Given the description of an element on the screen output the (x, y) to click on. 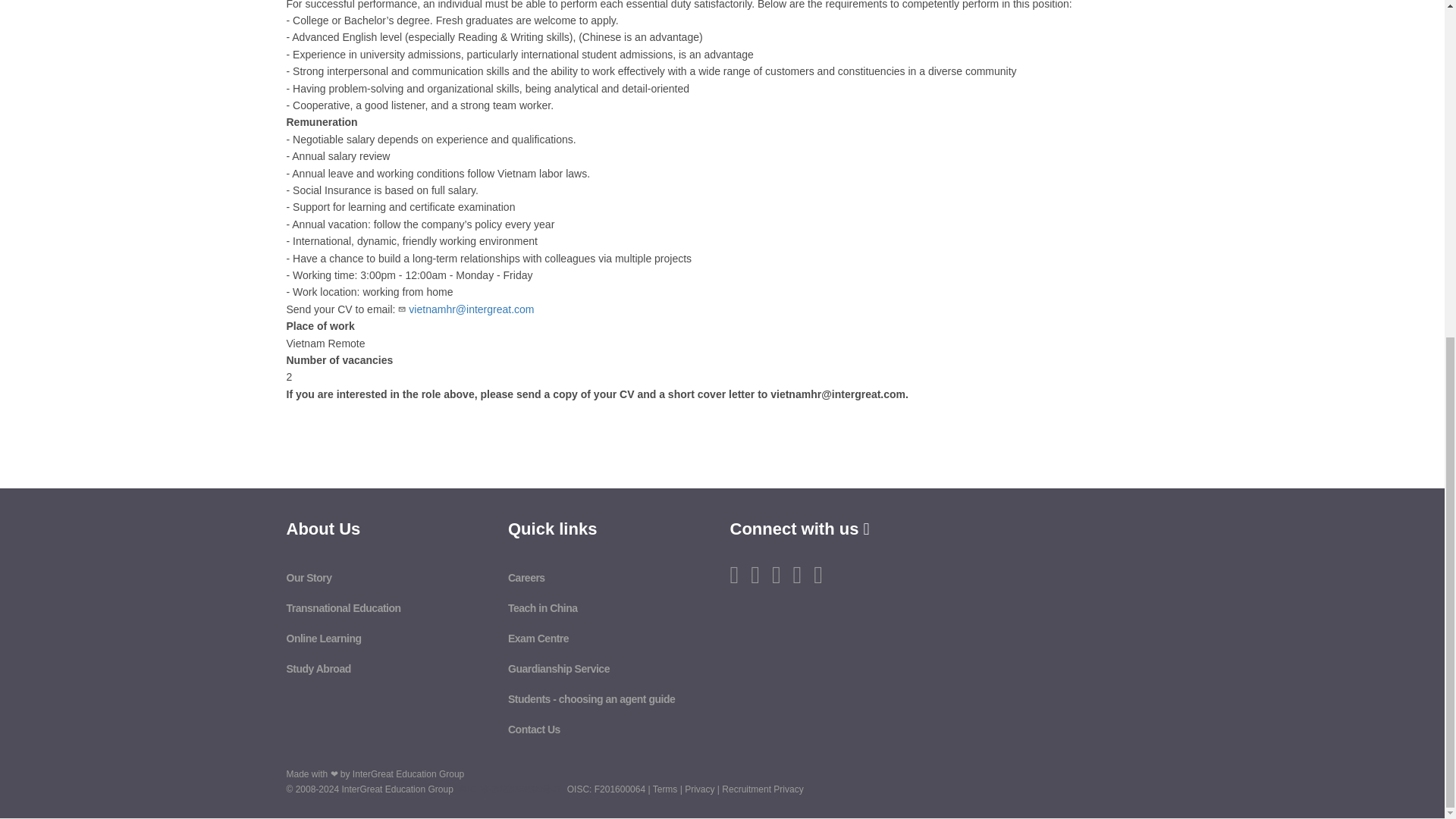
Guardianship Service (559, 668)
Terms (665, 788)
Transnational Education (343, 607)
Contact Us (534, 729)
Online Learning (323, 638)
Our Story (308, 577)
Students - choosing an agent guide (591, 698)
Teach in China (543, 607)
Privacy (699, 788)
Recruitment Privacy (762, 788)
